Given the description of an element on the screen output the (x, y) to click on. 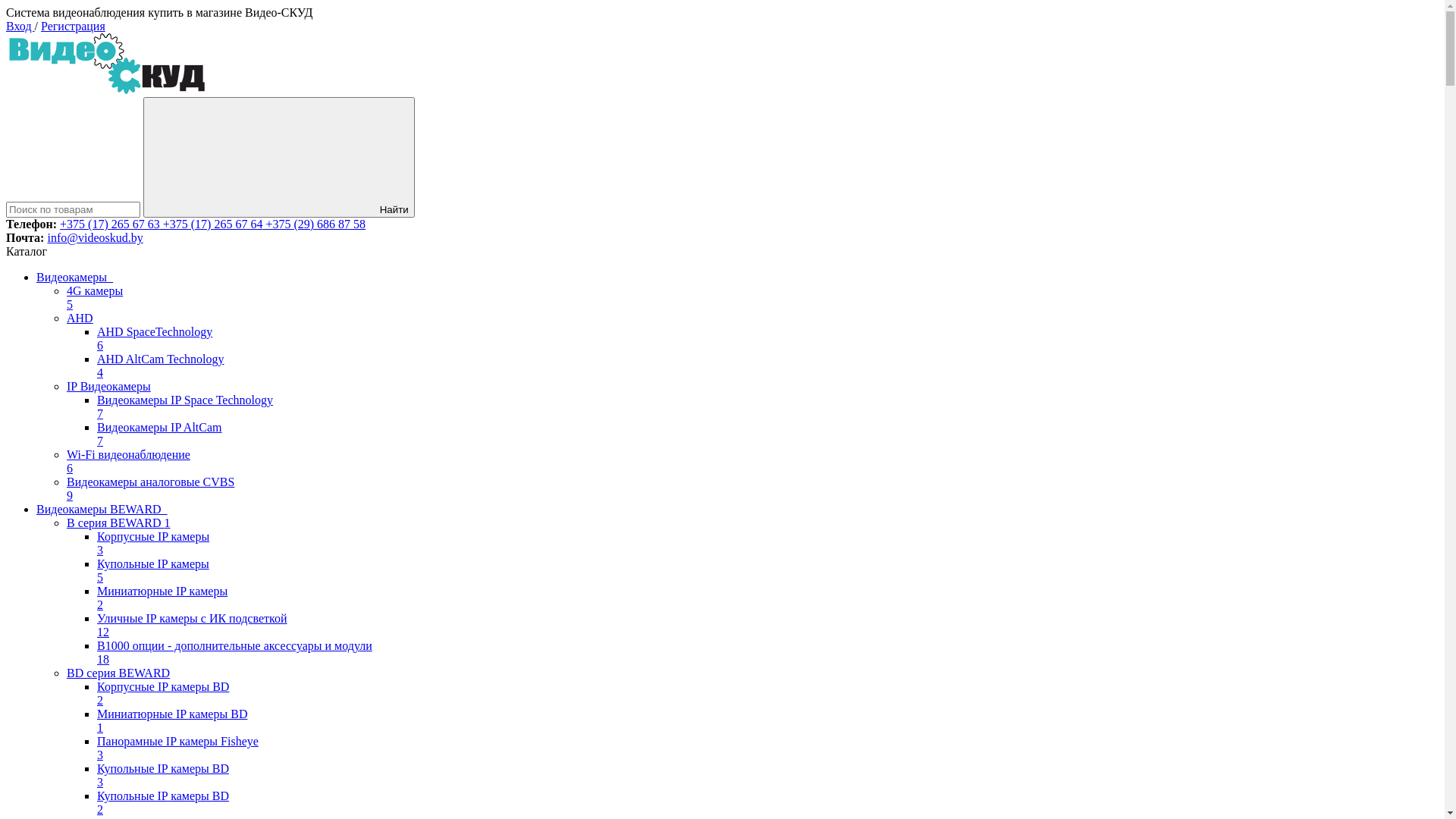
AHD SpaceTechnology
6 Element type: text (185, 338)
+375 (17) 265 67 63 Element type: text (109, 223)
+375 (17) 265 67 64 Element type: text (211, 223)
+375 (29) 686 87 58 Element type: text (313, 223)
info@videoskud.by Element type: text (94, 237)
AHD Element type: text (169, 318)
AHD AltCam Technology
4 Element type: text (185, 365)
